Given the description of an element on the screen output the (x, y) to click on. 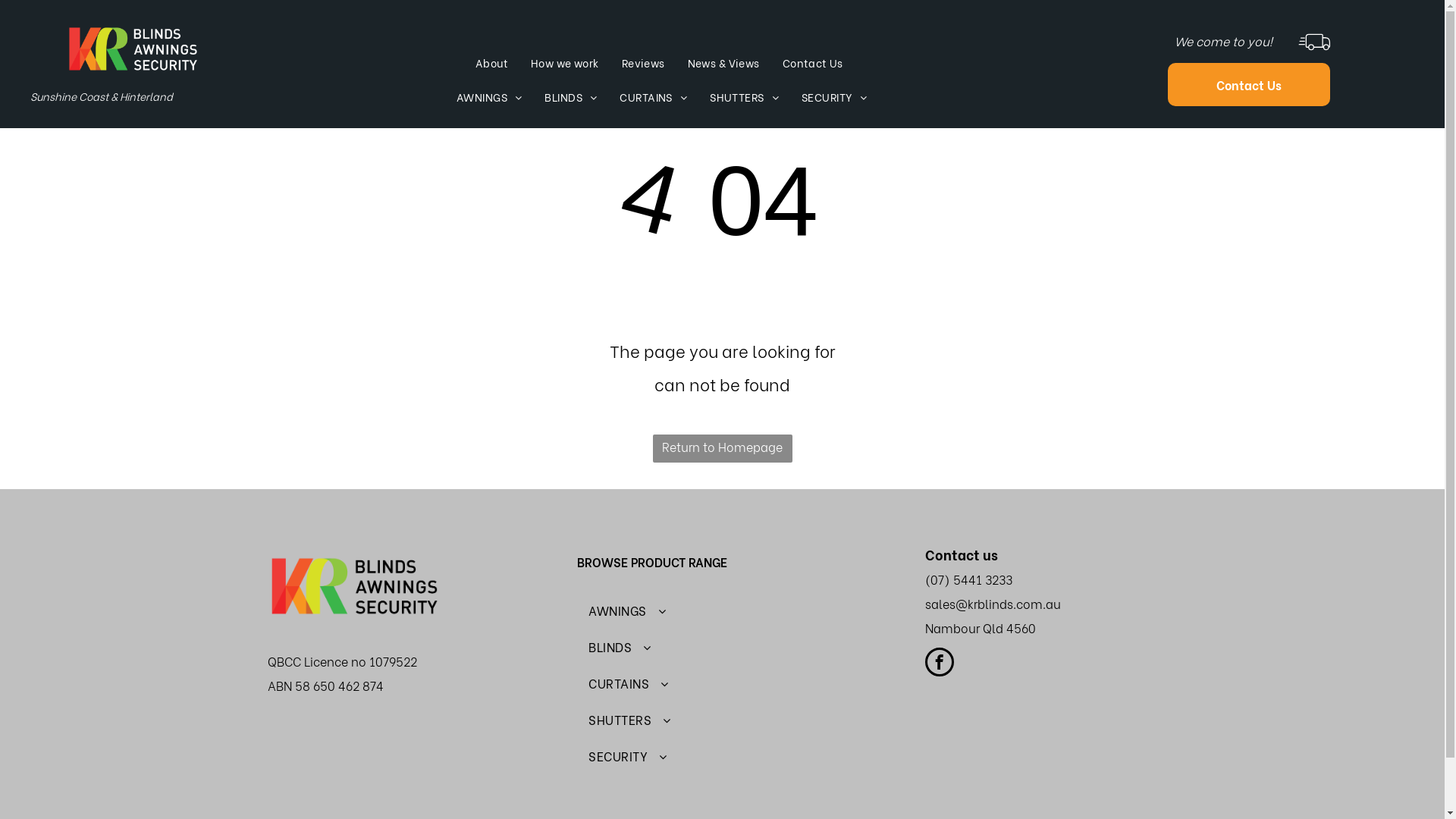
(07) 5441 3233 Element type: text (968, 578)
About Element type: text (491, 62)
BLINDS Element type: text (570, 96)
AWNINGS Element type: text (489, 96)
CURTAINS Element type: text (721, 683)
CURTAINS Element type: text (653, 96)
SHUTTERS Element type: text (744, 96)
sales@krblinds.com.au Element type: text (992, 602)
SECURITY Element type: text (721, 755)
News & Views Element type: text (723, 62)
How we work Element type: text (564, 62)
AWNINGS Element type: text (721, 610)
SHUTTERS Element type: text (721, 719)
Contact Us Element type: text (812, 62)
BLINDS Element type: text (721, 646)
Reviews Element type: text (643, 62)
Return to Homepage Element type: text (721, 448)
Contact Us Element type: text (1248, 83)
SECURITY Element type: text (834, 96)
